Given the description of an element on the screen output the (x, y) to click on. 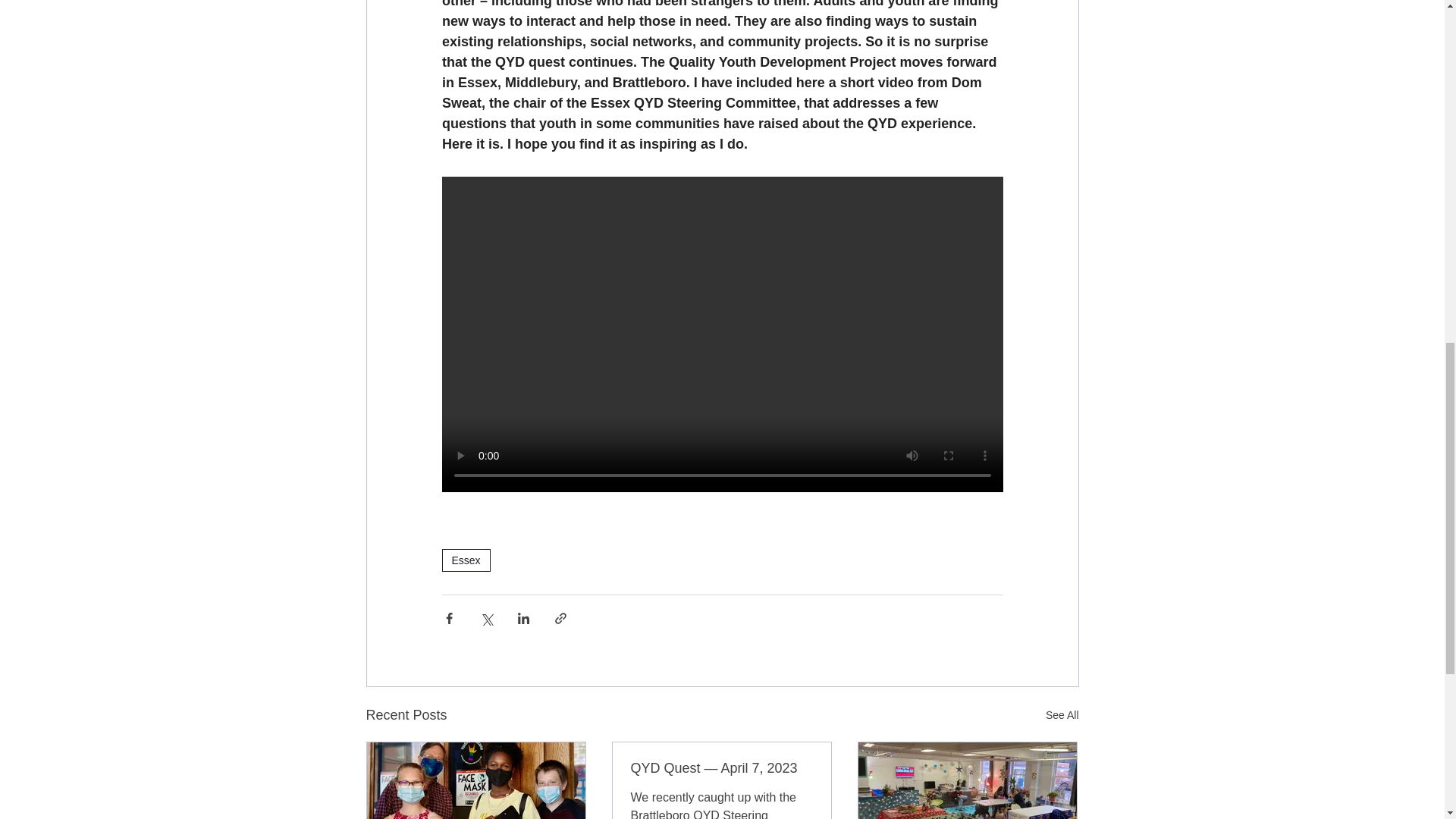
Essex (465, 559)
See All (1061, 715)
